Given the description of an element on the screen output the (x, y) to click on. 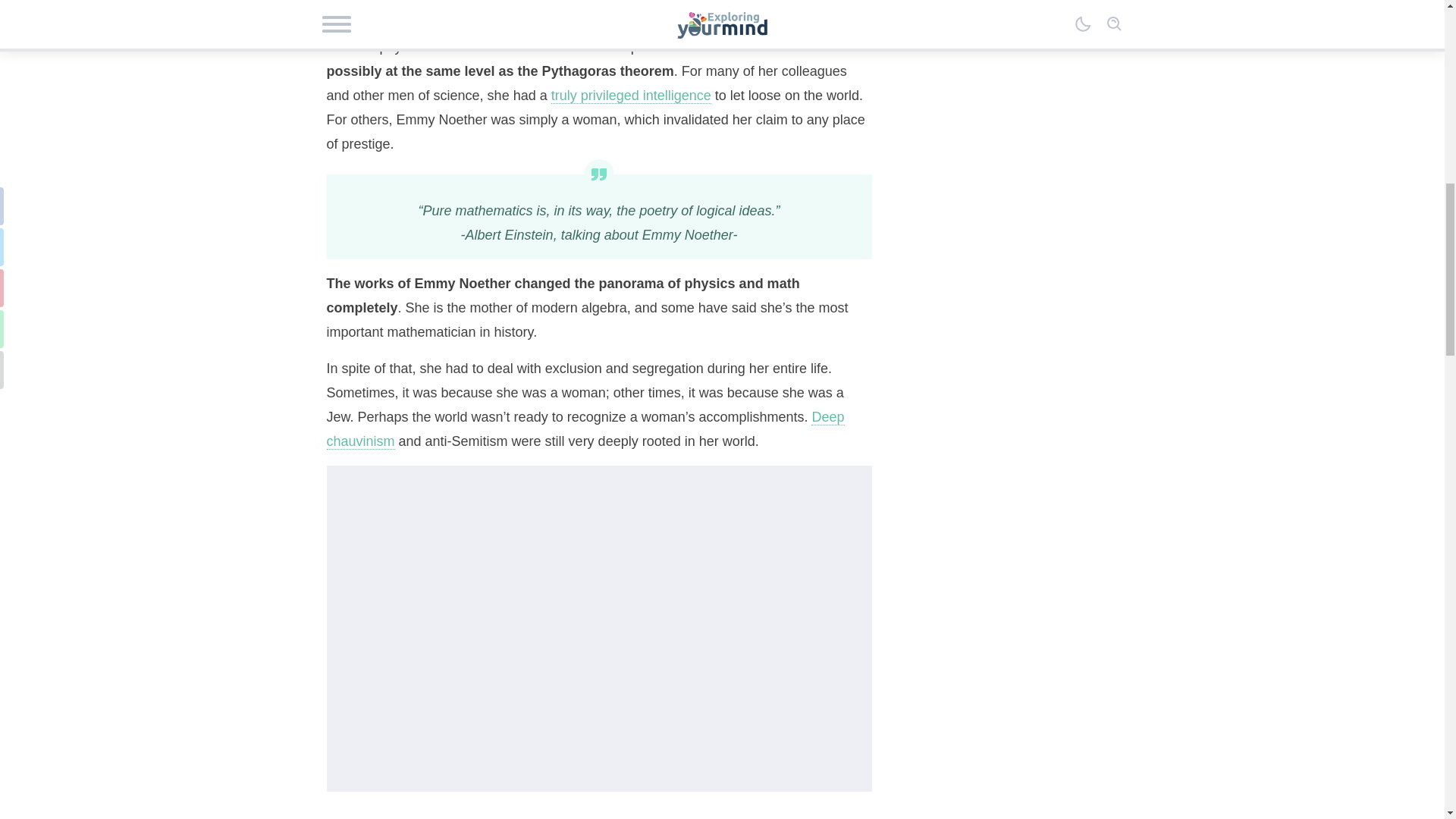
truly privileged intelligence (631, 95)
Deep chauvinism (585, 429)
